Given the description of an element on the screen output the (x, y) to click on. 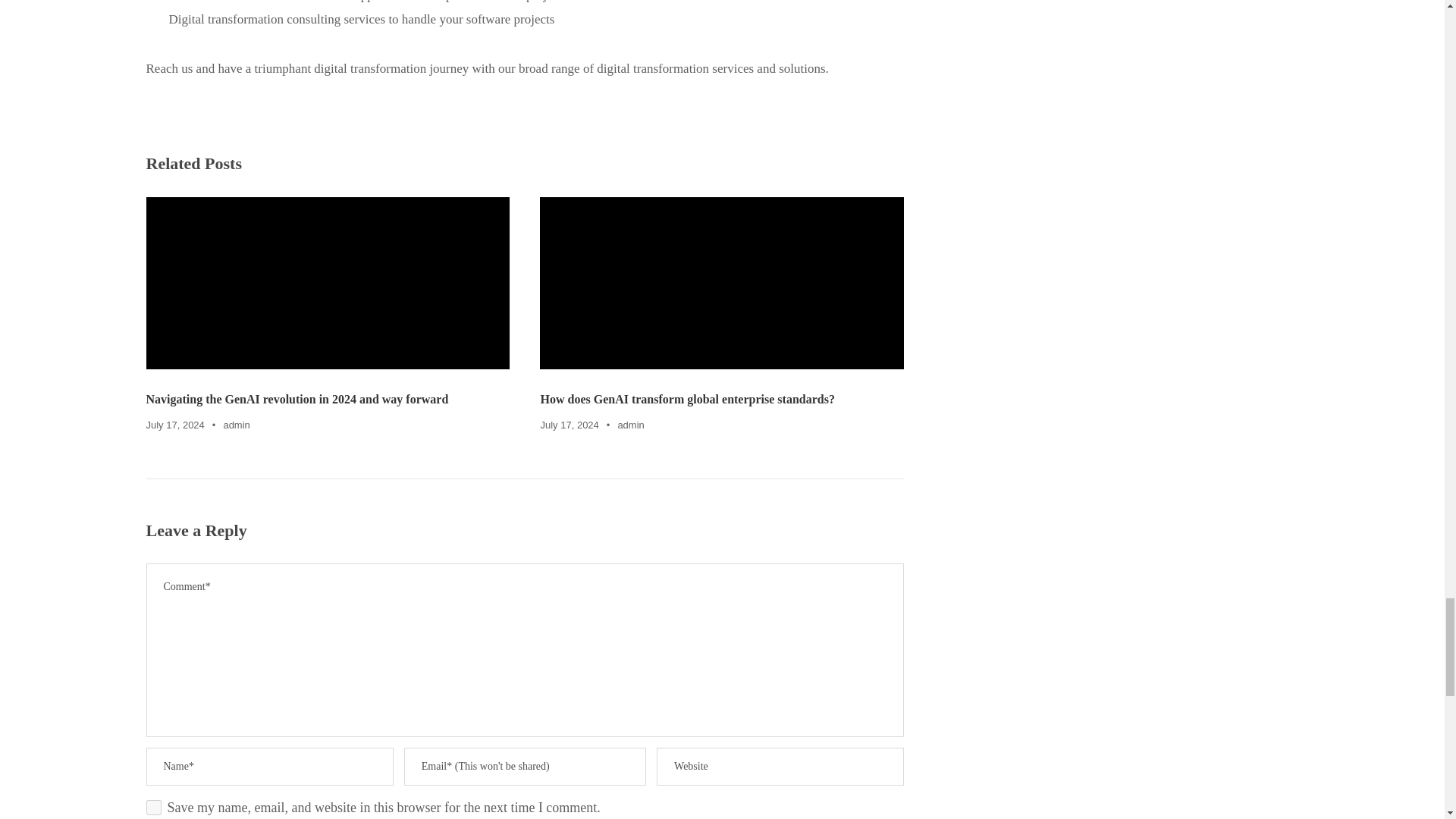
yes (152, 807)
How GenAI transforms global enterprise standards (722, 283)
Posts by admin (630, 424)
Posts by admin (235, 424)
